Given the description of an element on the screen output the (x, y) to click on. 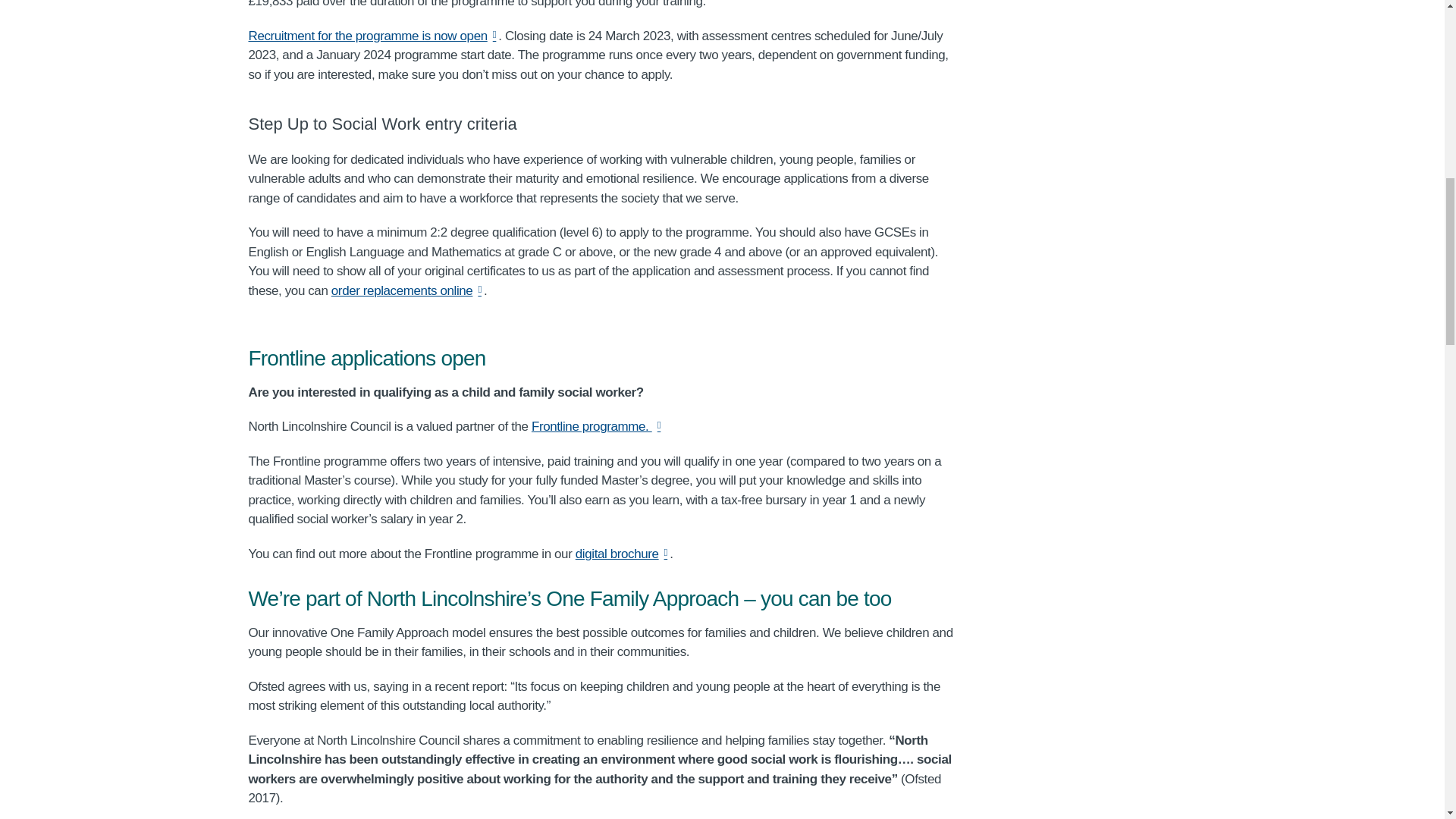
digital brochure (622, 554)
Frontline programme. (596, 426)
Recruitment for the programme is now open (373, 35)
order replacements online (407, 290)
